Given the description of an element on the screen output the (x, y) to click on. 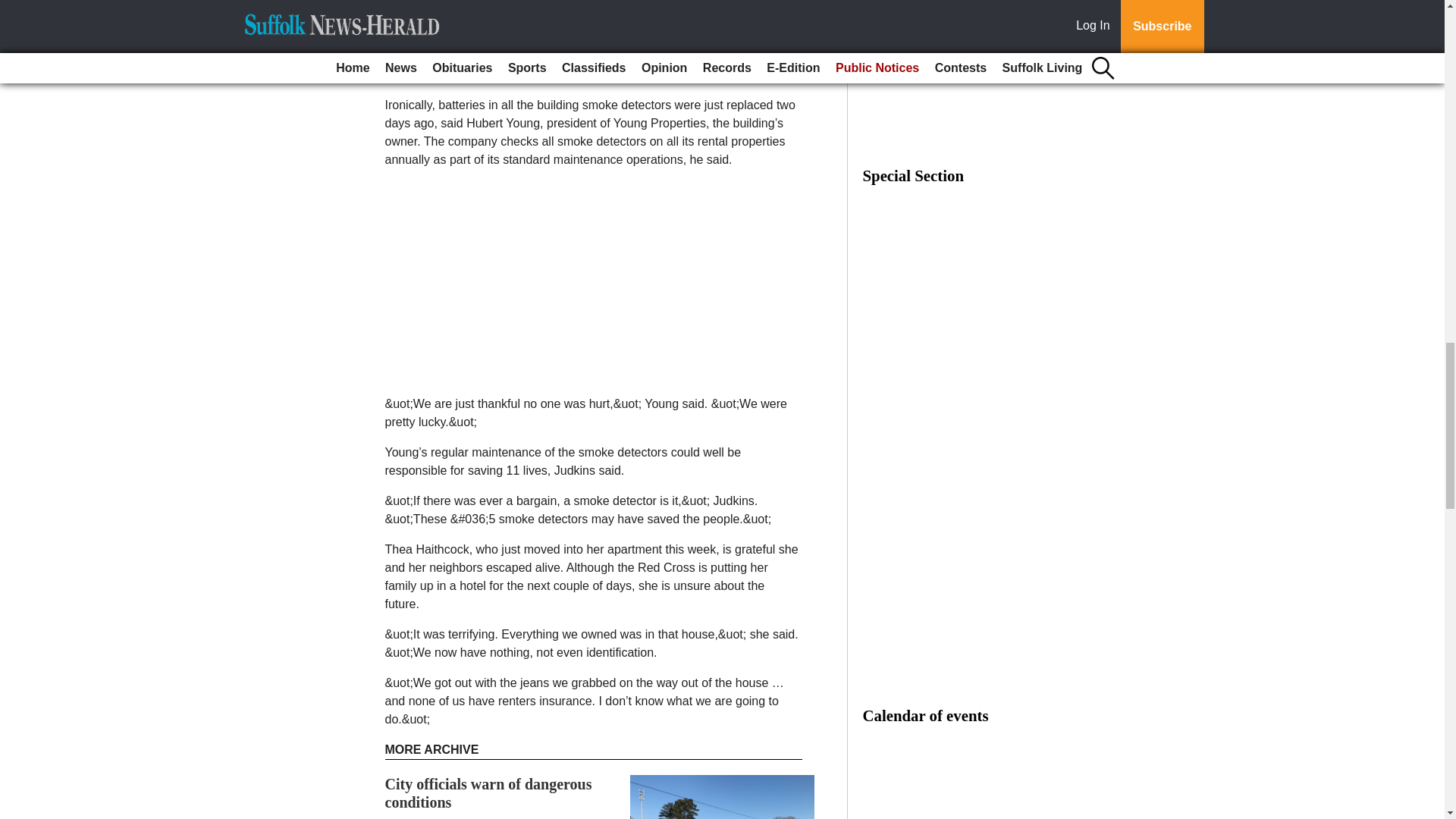
City officials warn of dangerous conditions (488, 792)
City officials warn of dangerous conditions (488, 792)
